Given the description of an element on the screen output the (x, y) to click on. 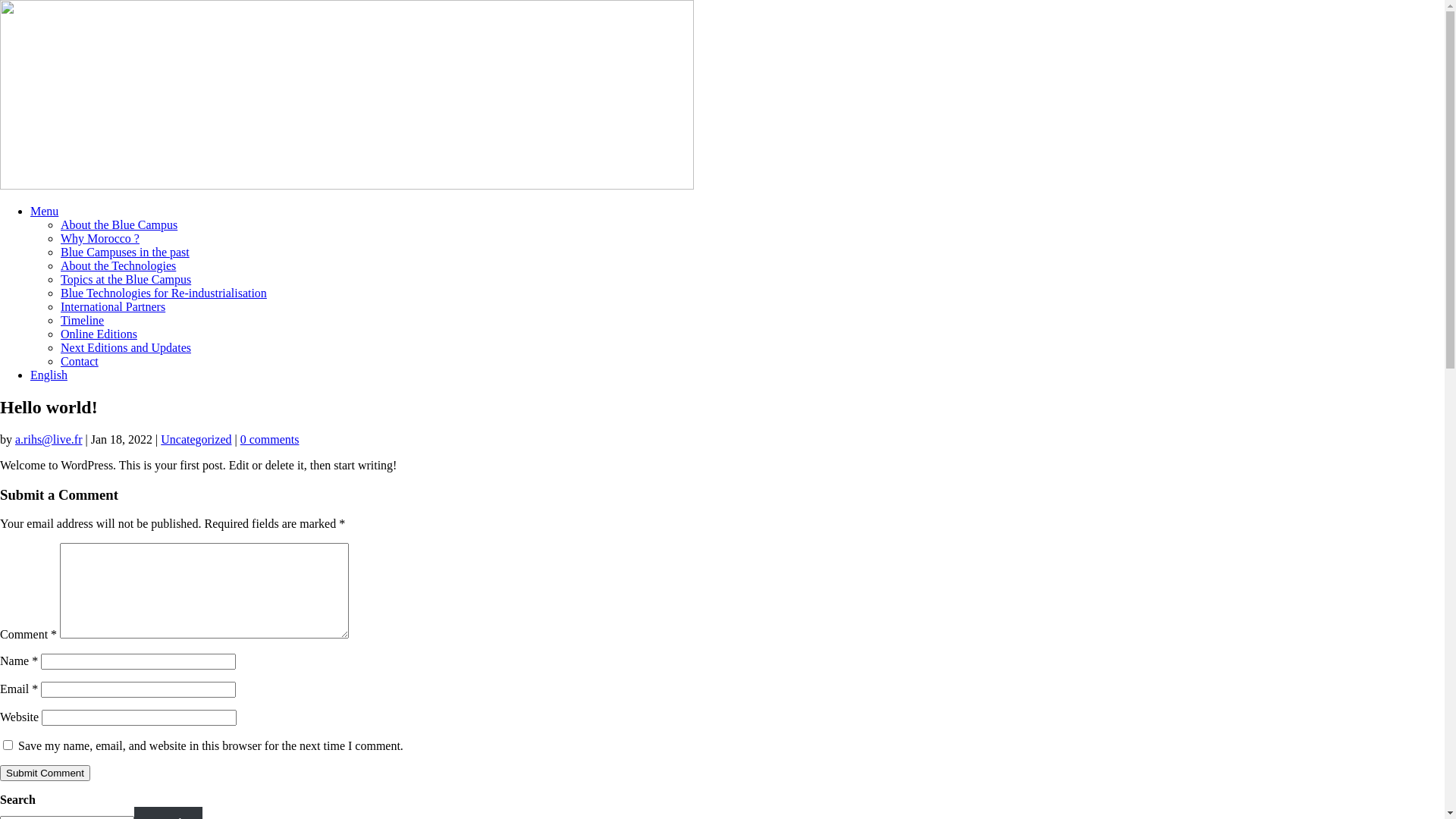
Topics at the Blue Campus Element type: text (125, 279)
0 comments Element type: text (269, 439)
About the Blue Campus Element type: text (118, 224)
Online Editions Element type: text (98, 333)
Uncategorized Element type: text (195, 439)
Timeline Element type: text (81, 319)
Menu Element type: text (44, 210)
Why Morocco ? Element type: text (99, 238)
Blue Technologies for Re-industrialisation Element type: text (163, 292)
International Partners Element type: text (112, 306)
English Element type: text (48, 374)
About the Technologies Element type: text (117, 265)
Next Editions and Updates Element type: text (125, 347)
a.rihs@live.fr Element type: text (48, 439)
Blue Campuses in the past Element type: text (124, 251)
Contact Element type: text (79, 360)
Submit Comment Element type: text (45, 773)
